Given the description of an element on the screen output the (x, y) to click on. 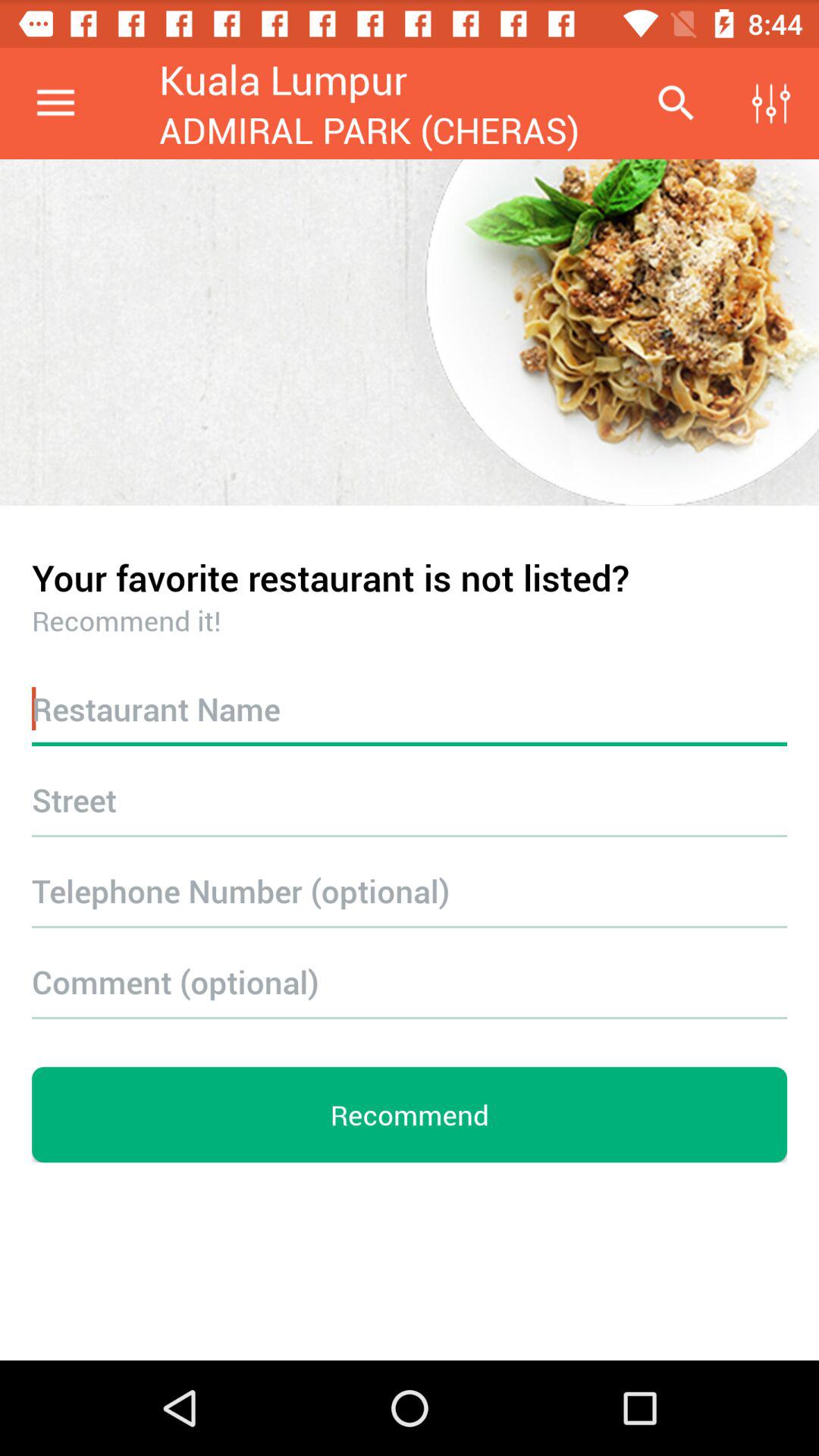
select the item at the top left corner (55, 103)
